Given the description of an element on the screen output the (x, y) to click on. 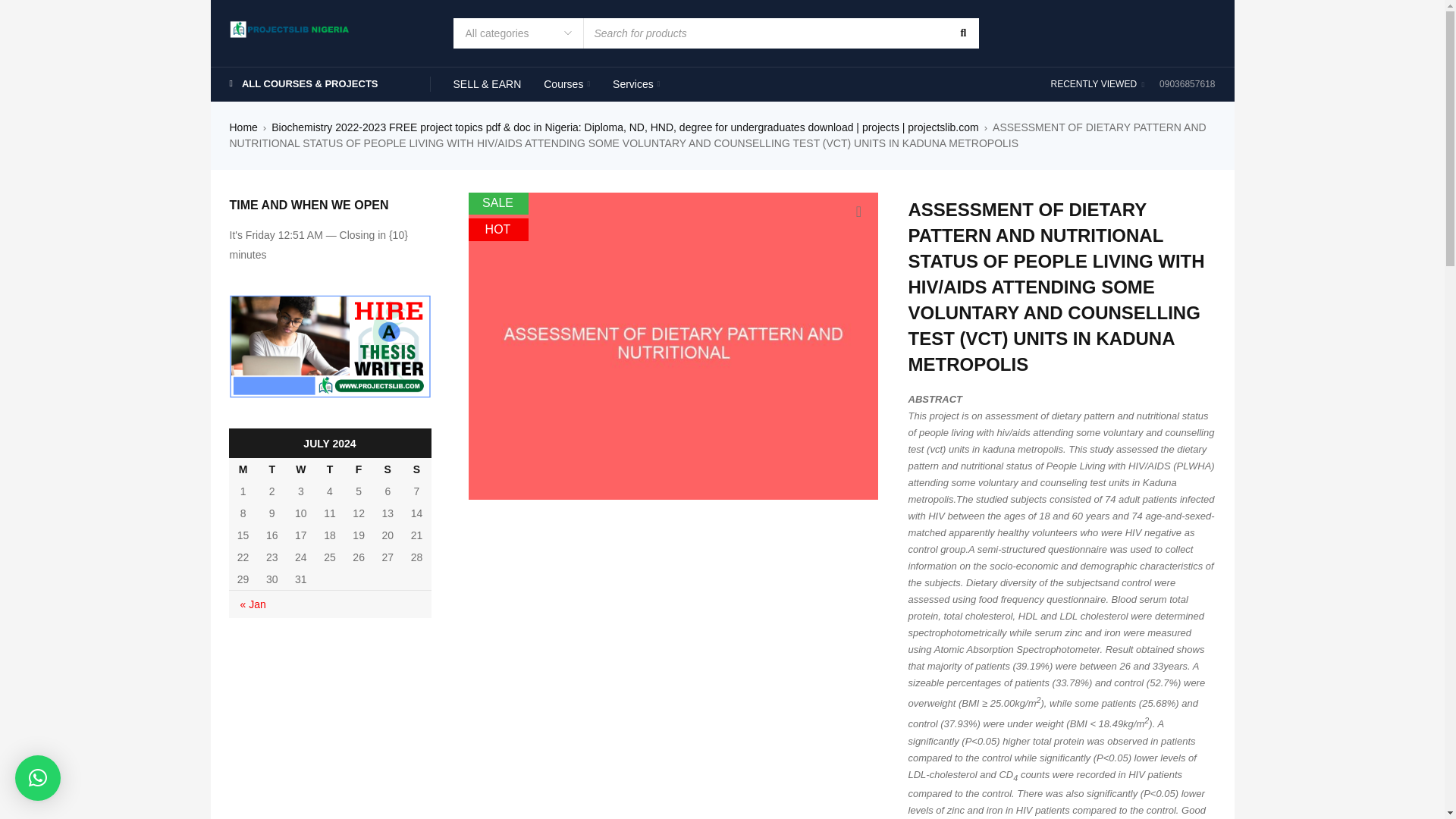
Search (962, 32)
Sunday (415, 468)
Tuesday (271, 468)
Friday (357, 468)
Search (962, 32)
Thursday (329, 468)
PROJECTSLIB (289, 27)
Saturday (386, 468)
Monday (242, 468)
Wednesday (300, 468)
